Given the description of an element on the screen output the (x, y) to click on. 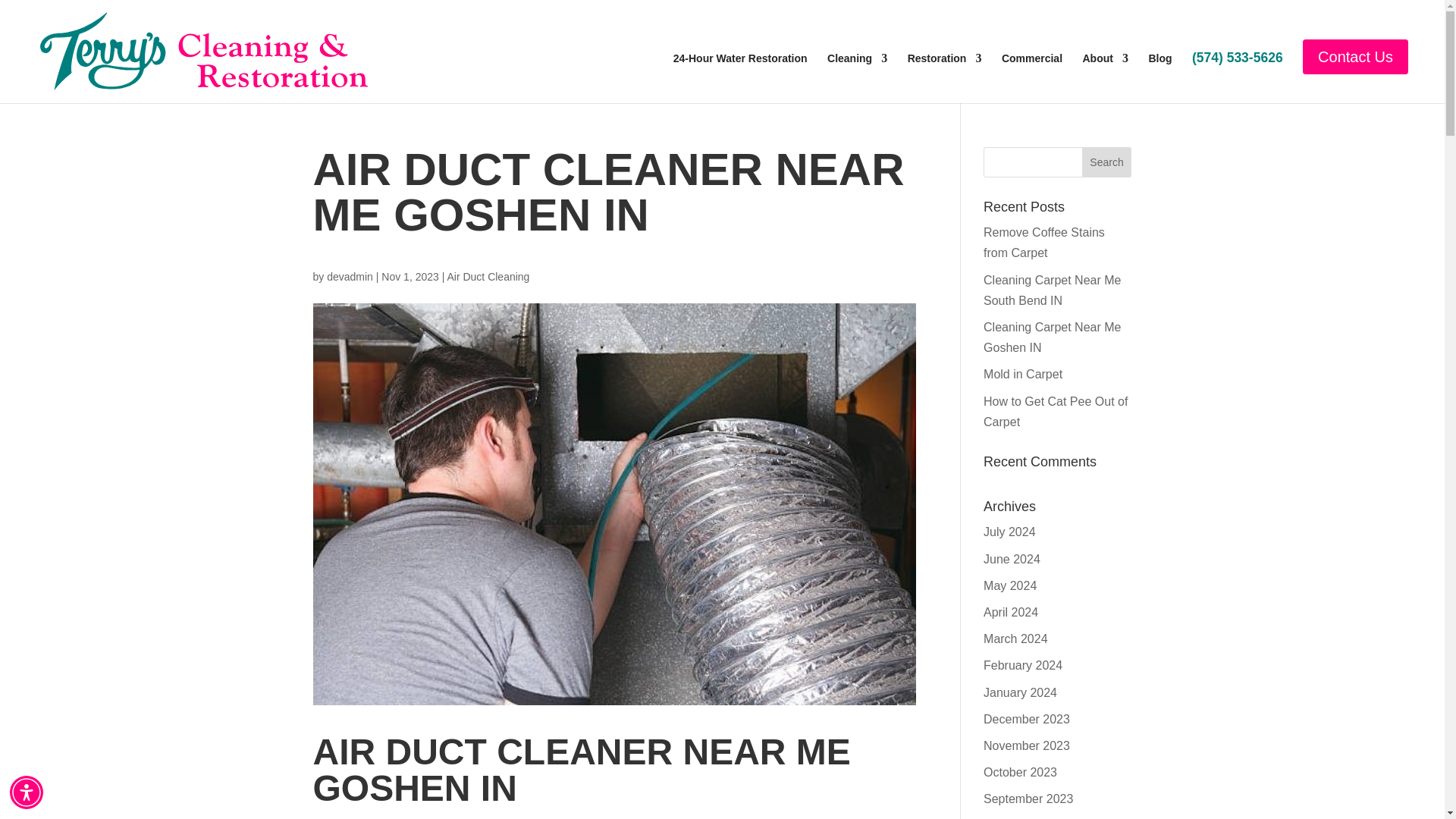
Accessibility Menu (26, 792)
Posts by devadmin (349, 275)
Search (1106, 162)
